Given the description of an element on the screen output the (x, y) to click on. 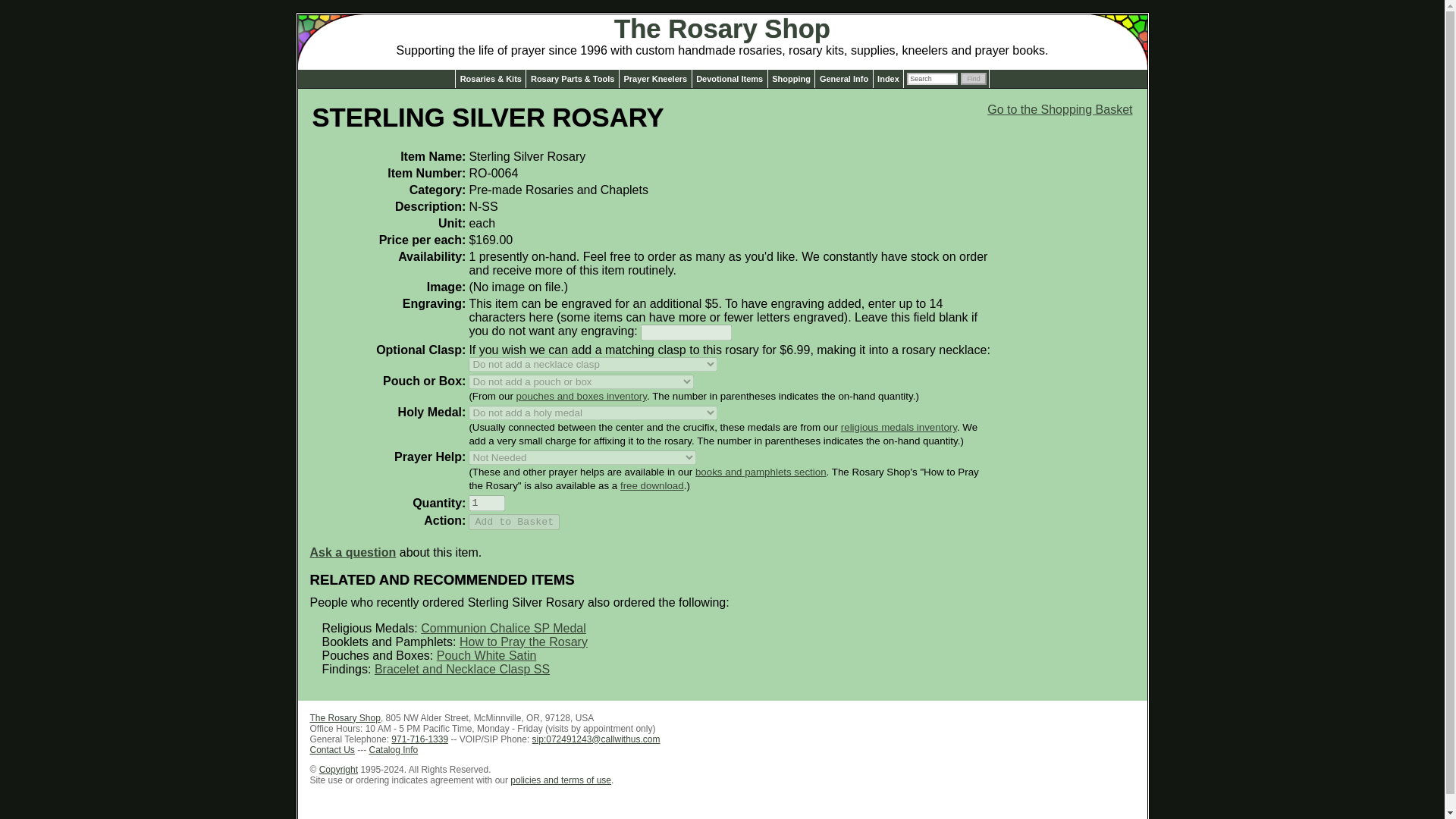
Go to home page. (721, 28)
1 (486, 503)
Add to Basket (513, 521)
Banner Image (1098, 23)
Search Inventory (932, 78)
The Rosary Shop (721, 28)
Search (932, 78)
Banner Image (344, 23)
Find (973, 78)
